Given the description of an element on the screen output the (x, y) to click on. 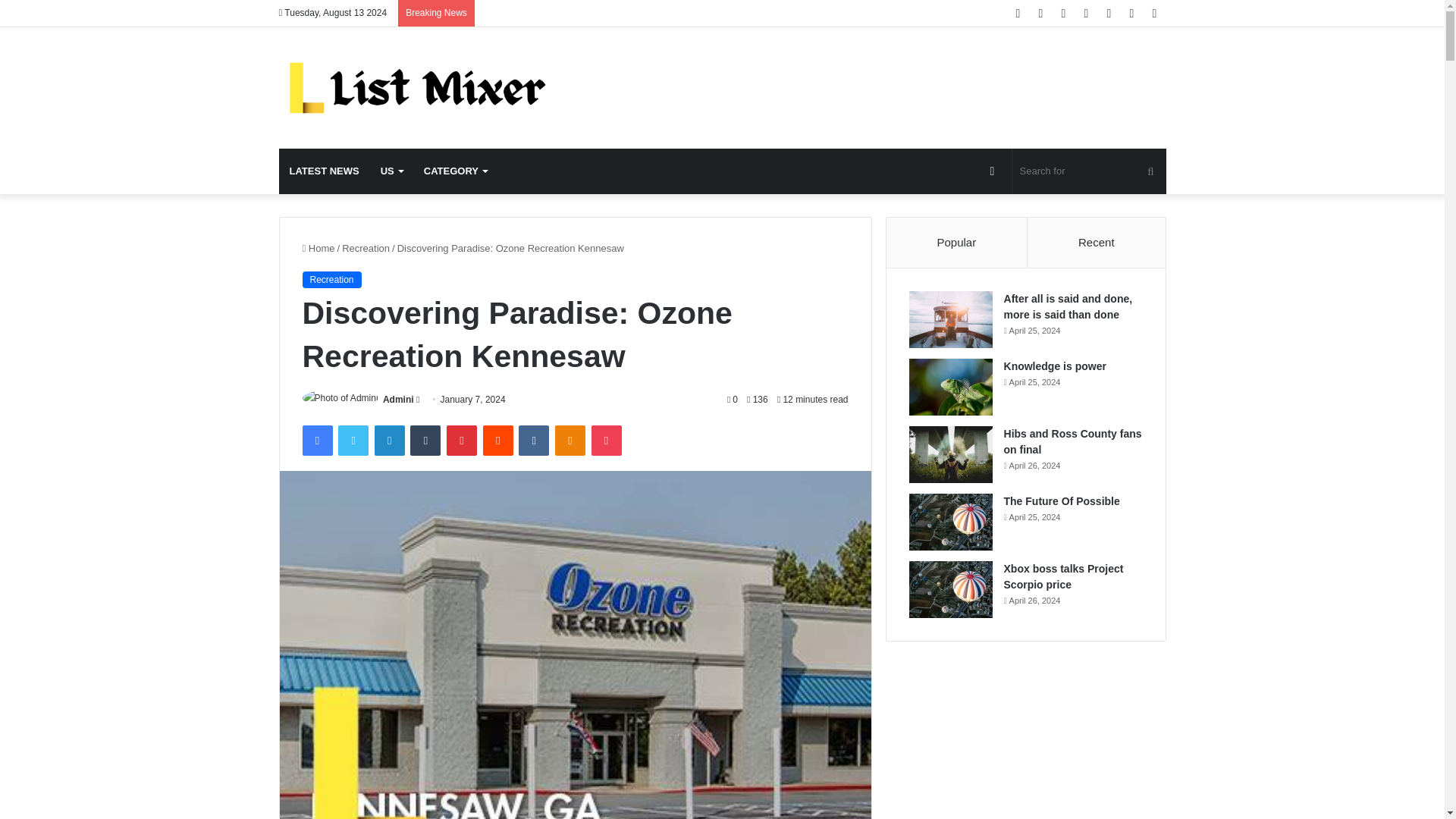
Pocket (606, 440)
Facebook (316, 440)
US (391, 171)
Admini (397, 398)
Reddit (498, 440)
Odnoklassniki (569, 440)
Tumblr (425, 440)
CATEGORY (455, 171)
Pinterest (461, 440)
LATEST NEWS (324, 171)
